Given the description of an element on the screen output the (x, y) to click on. 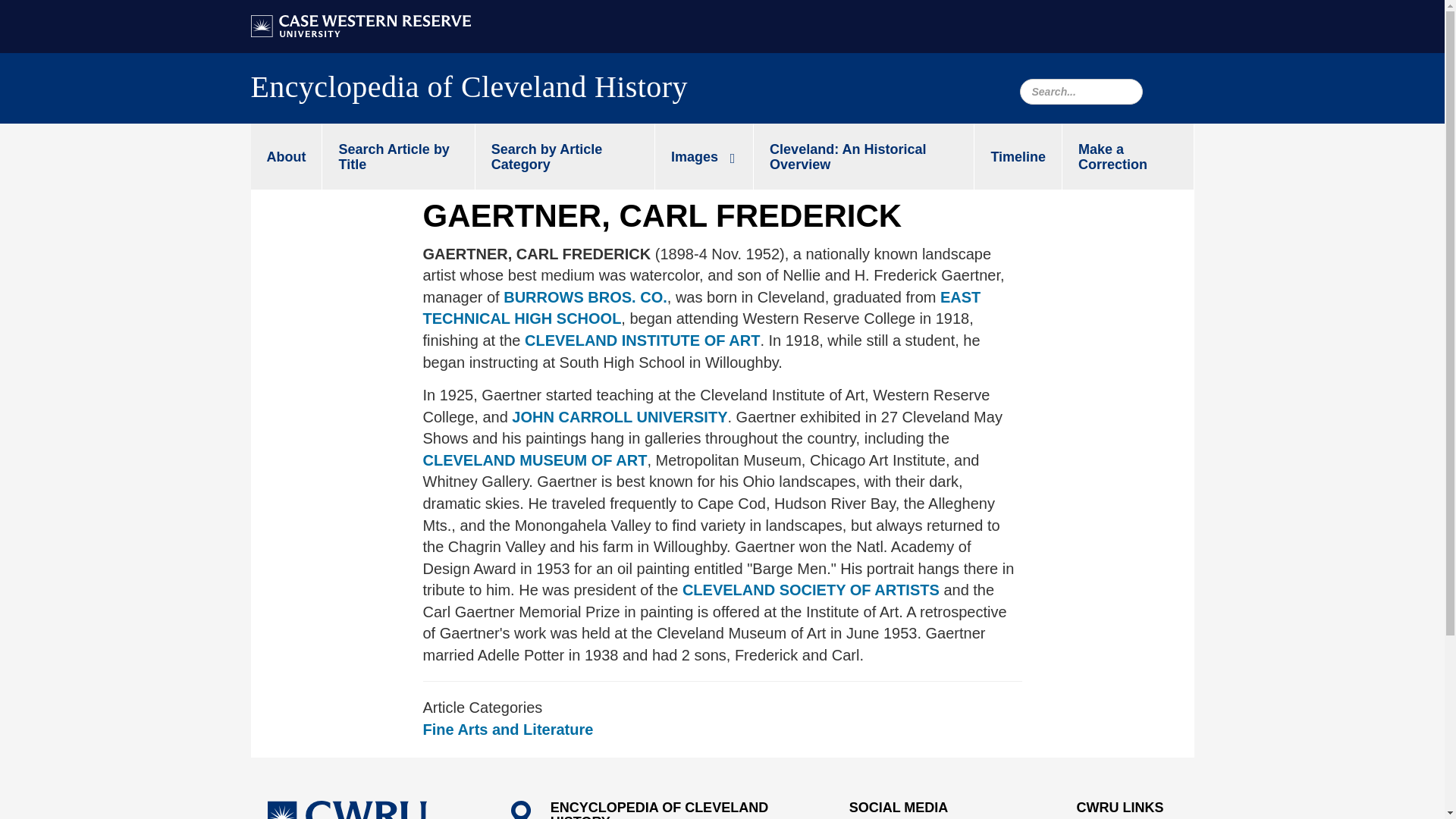
CLEVELAND MUSEUM OF ART (535, 460)
BURROWS (584, 297)
Case Western Reserve University (346, 809)
Search by Article Category (564, 156)
JOHN CARROLL UNIVERSITY (618, 416)
Encyclopedia of Cleveland History (468, 91)
Search Article by Title (397, 156)
The original preface to the 1987 edition. (864, 156)
Images (703, 156)
Cleveland: An Historical Overview (864, 156)
